Given the description of an element on the screen output the (x, y) to click on. 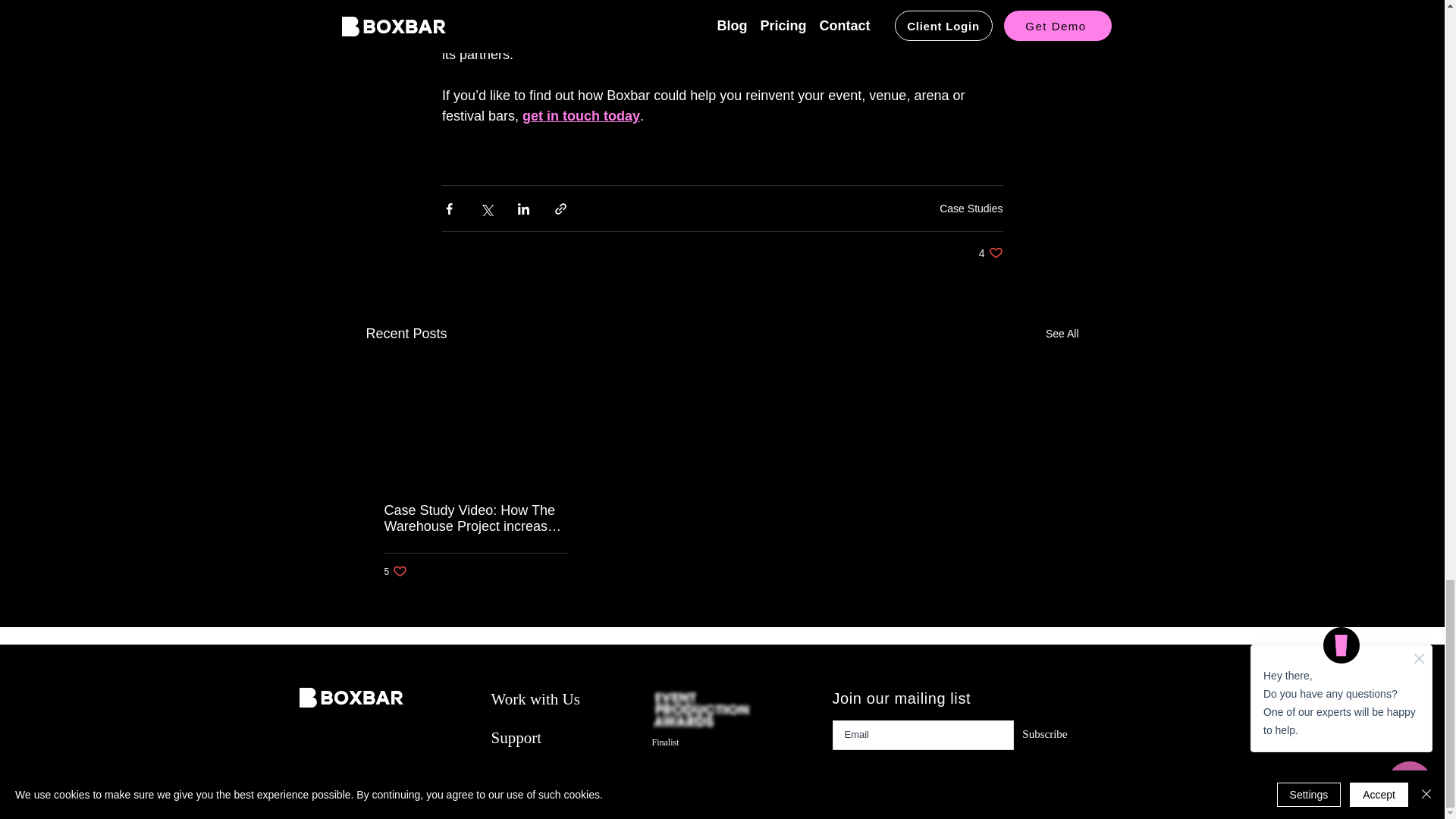
Subscribe (990, 252)
Work with Us (1040, 734)
Case Studies (535, 699)
Support (971, 208)
See All (395, 571)
get in touch today (516, 737)
